Given the description of an element on the screen output the (x, y) to click on. 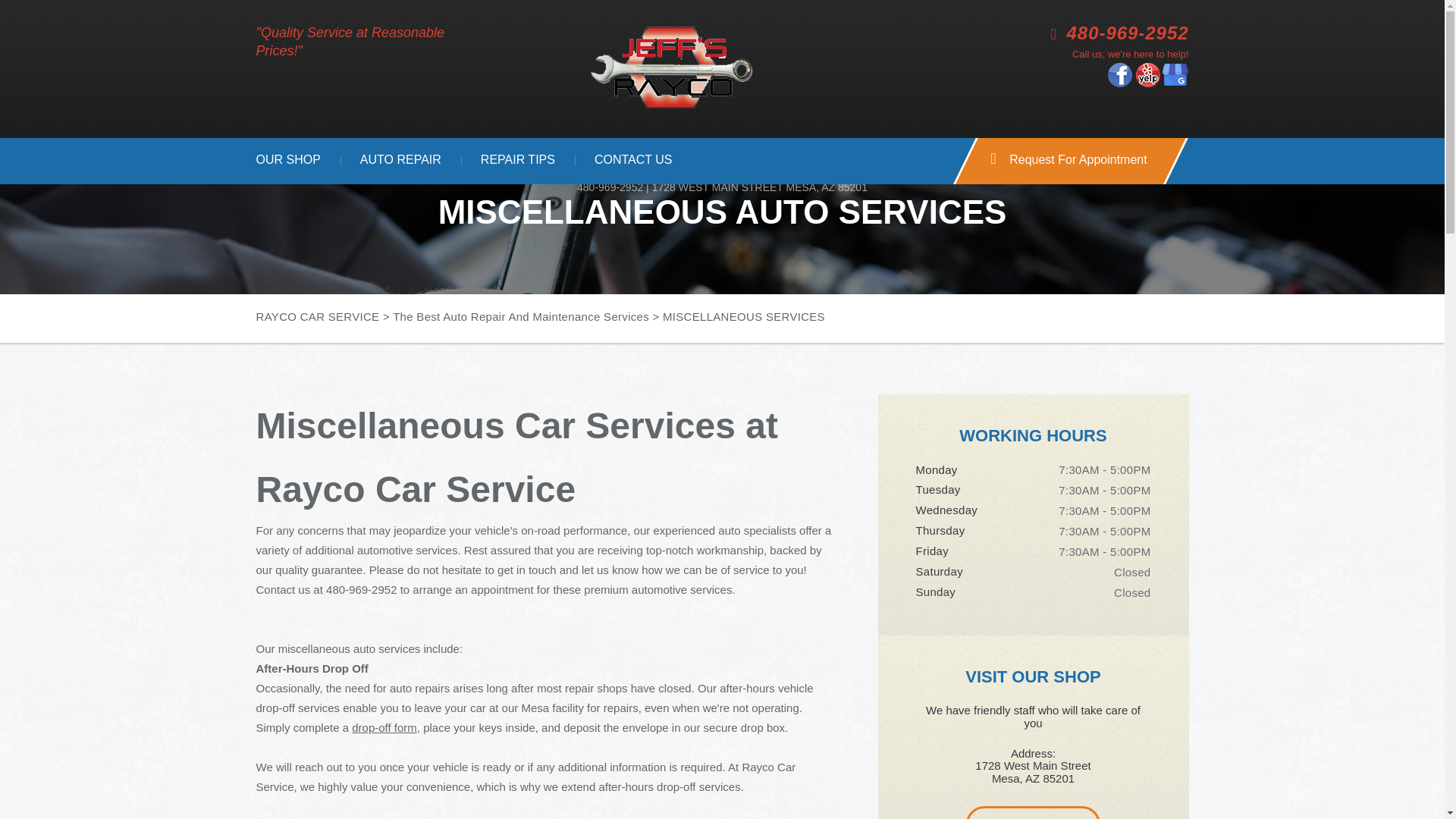
AUTO REPAIR (400, 161)
RAYCO CAR SERVICE (318, 316)
OUR SHOP (287, 161)
Request For Appointment (1059, 161)
REPAIR TIPS (518, 161)
MISCELLANEOUS SERVICES (743, 316)
480-969-2952 (1128, 32)
The Best Auto Repair And Maintenance Services (521, 316)
480-969-2952 (609, 186)
1728 WEST MAIN STREET (717, 186)
CONTACT US (634, 161)
MESA, AZ 85201 (826, 186)
